Given the description of an element on the screen output the (x, y) to click on. 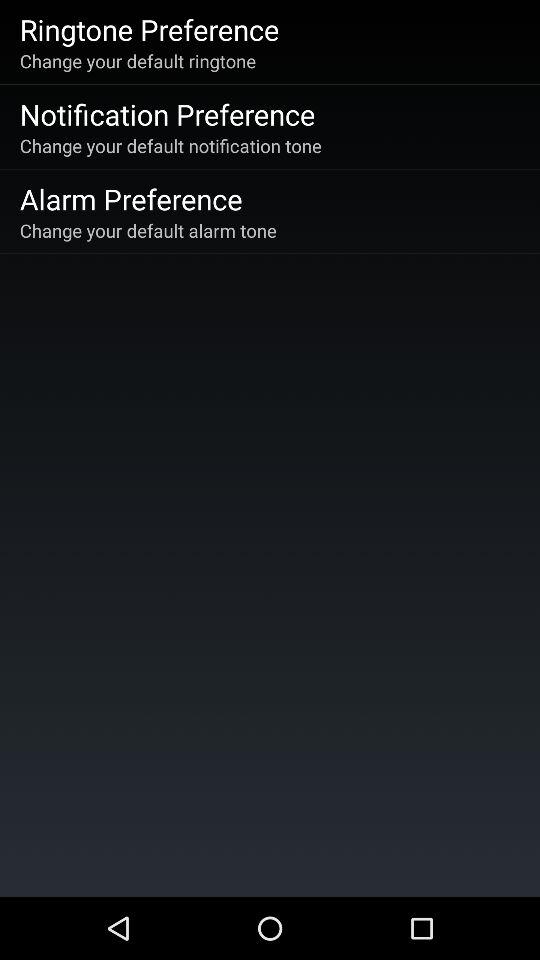
flip to alarm preference icon (130, 198)
